Given the description of an element on the screen output the (x, y) to click on. 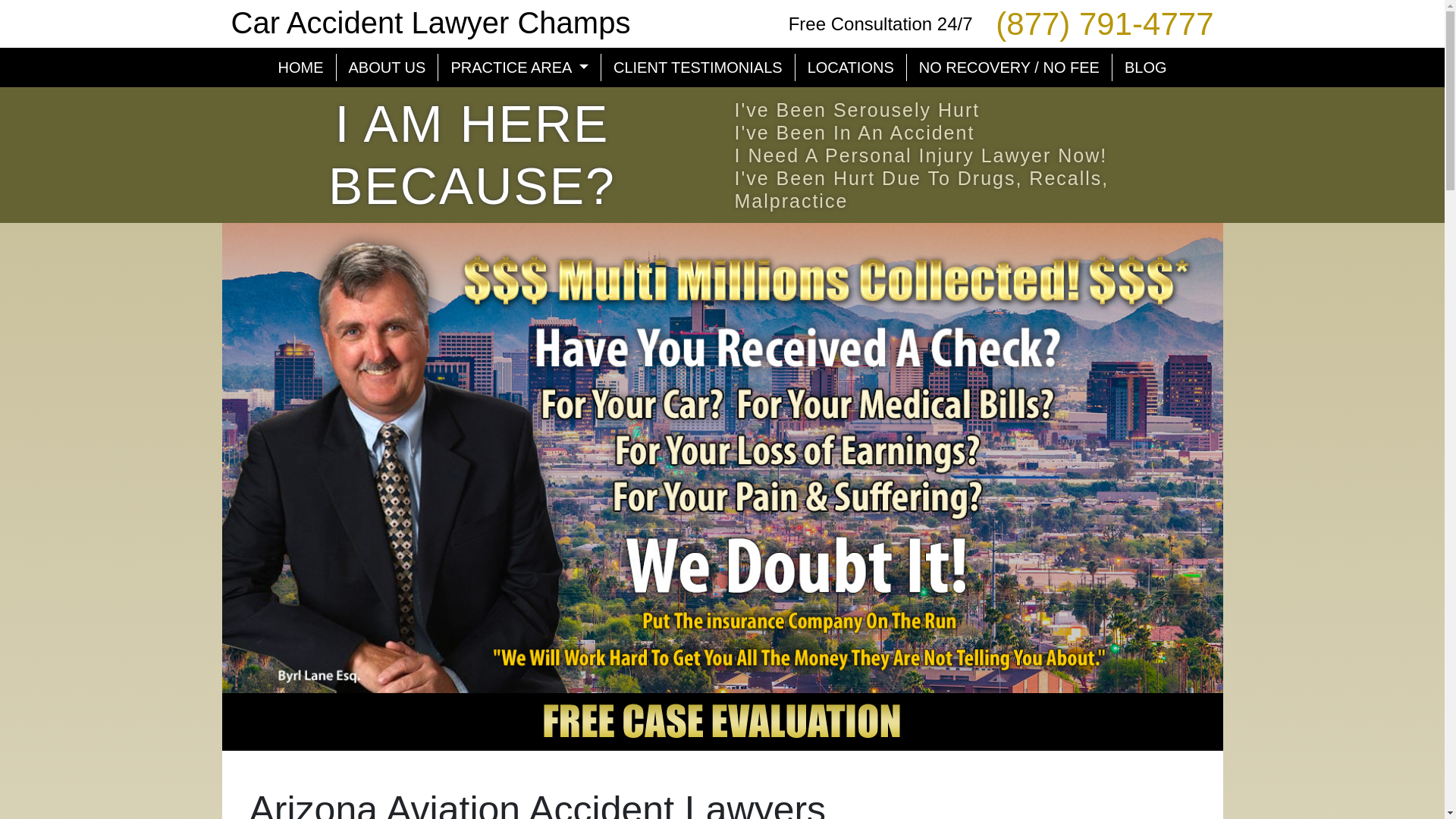
Car Accident Lawyer Champs (430, 22)
HOME (300, 67)
CLIENT TESTIMONIALS (697, 67)
PRACTICE AREA (519, 67)
LOCATIONS (850, 67)
BLOG (1145, 67)
YouTube video player (1062, 806)
ABOUT US (387, 67)
